Given the description of an element on the screen output the (x, y) to click on. 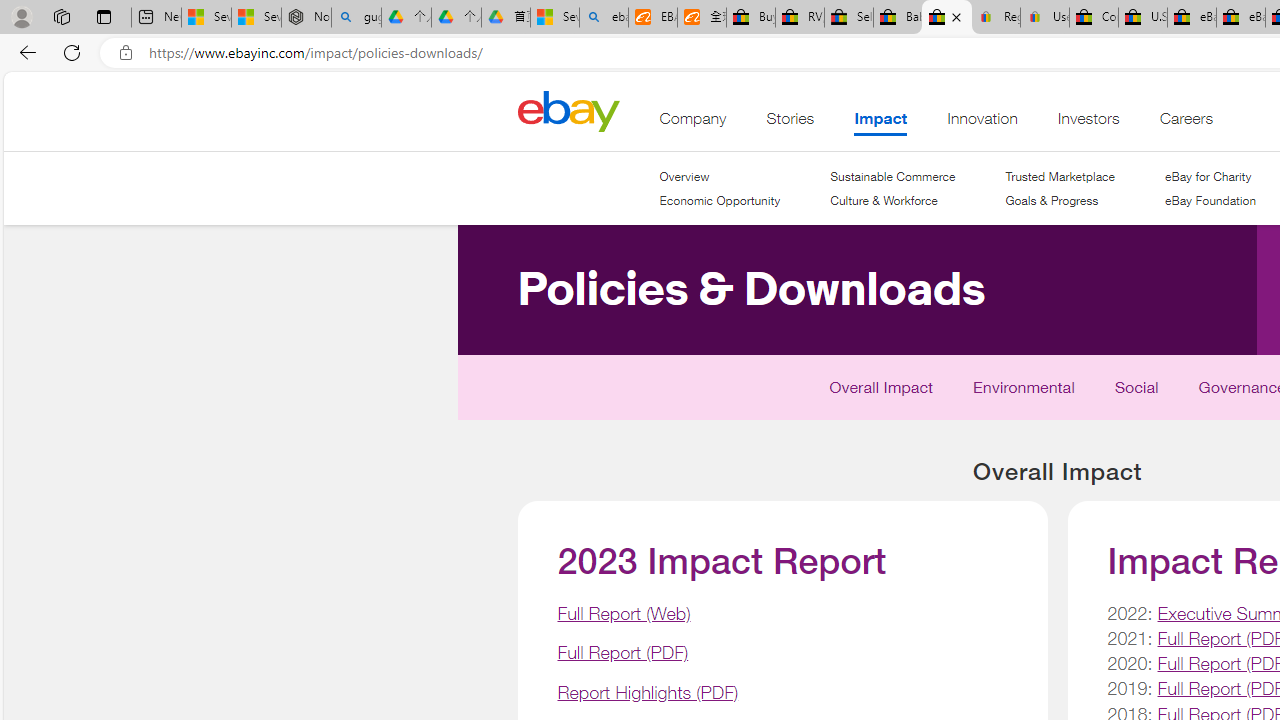
Policies & Downloads (636, 397)
Innovation (982, 123)
Economic Opportunity (719, 200)
U.S. State Privacy Disclosures - eBay Inc. (1142, 17)
User Privacy Notice | eBay (1044, 17)
Innovation (982, 123)
Overview (684, 176)
Goals & Progress (1051, 200)
